Given the description of an element on the screen output the (x, y) to click on. 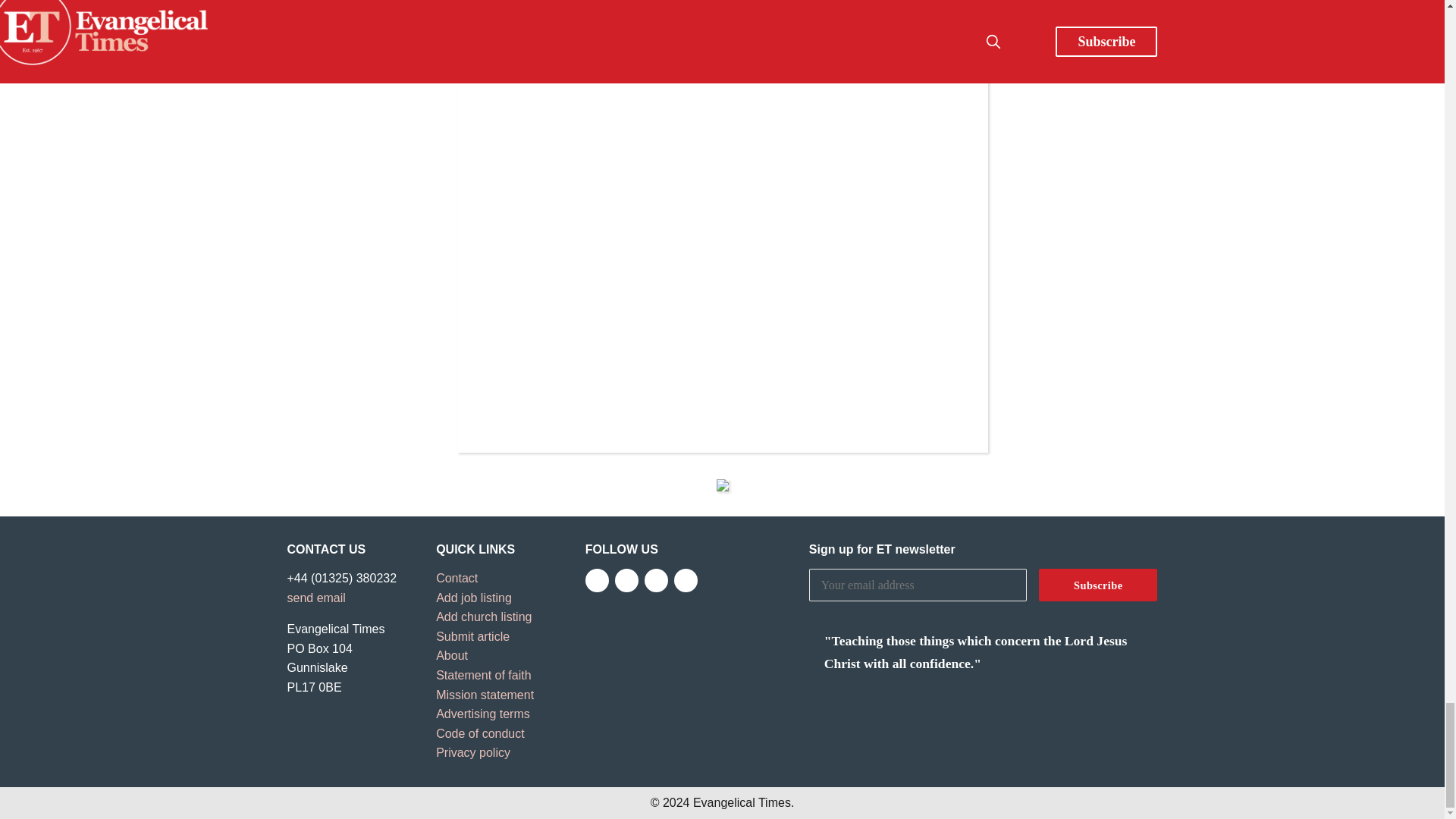
Facebook (596, 580)
Instagram (656, 580)
Twitter (626, 580)
Linkedin (685, 580)
